Given the description of an element on the screen output the (x, y) to click on. 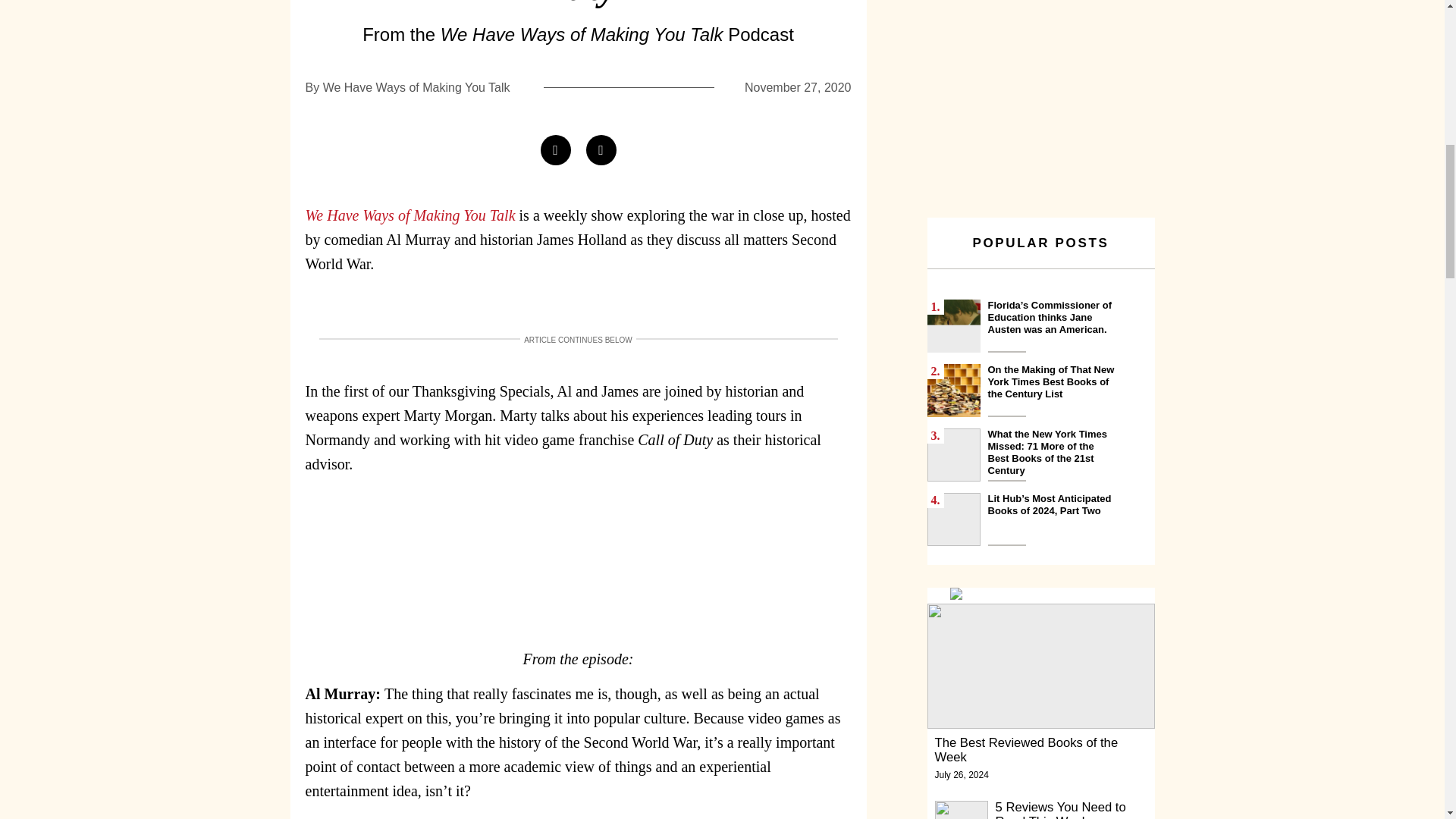
Embed Player (577, 557)
